Given the description of an element on the screen output the (x, y) to click on. 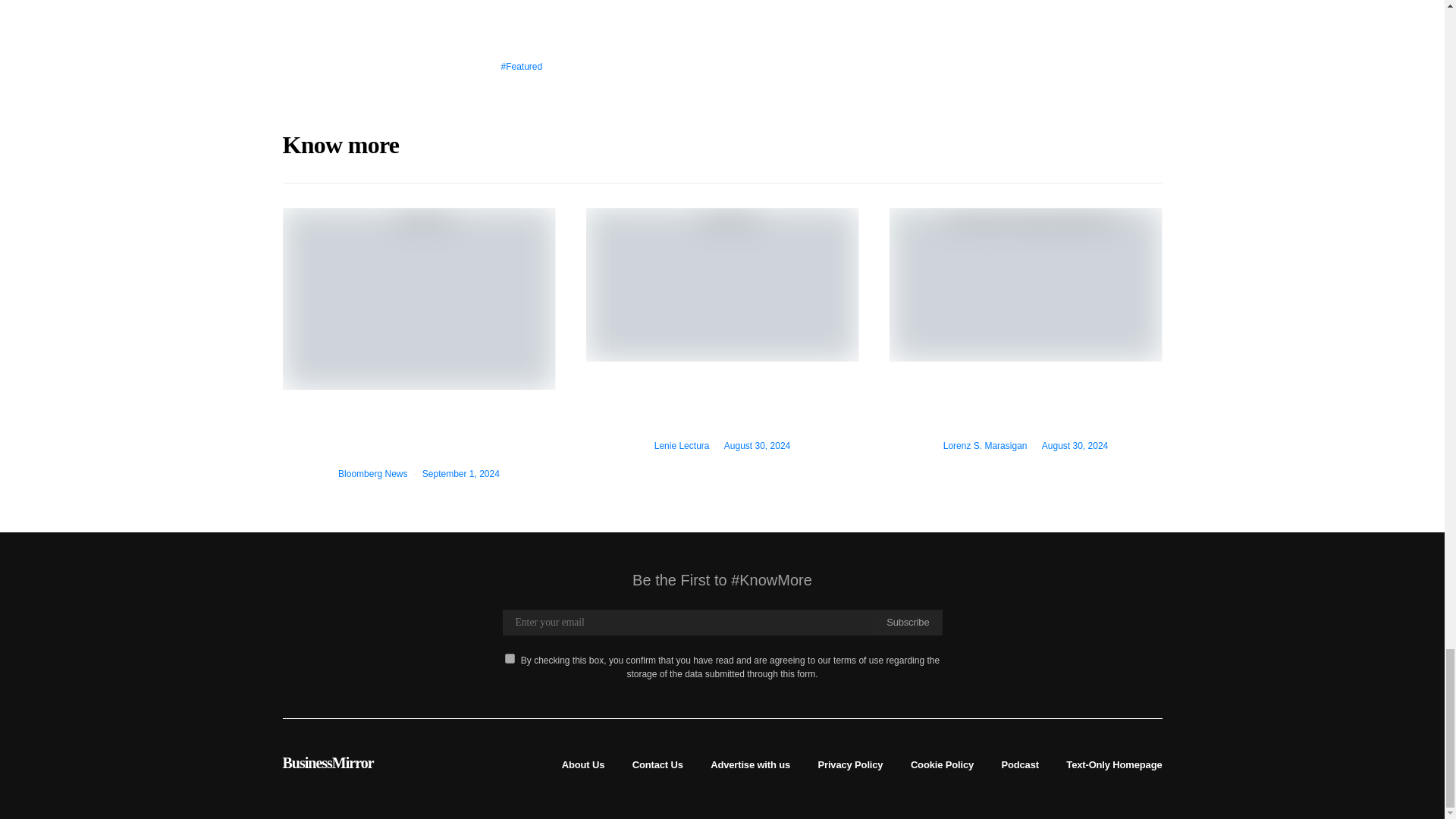
View all posts by Lorenz S. Marasigan (985, 445)
View all posts by Bloomberg News (372, 473)
on (510, 658)
View all posts by Lenie Lectura (681, 445)
